Given the description of an element on the screen output the (x, y) to click on. 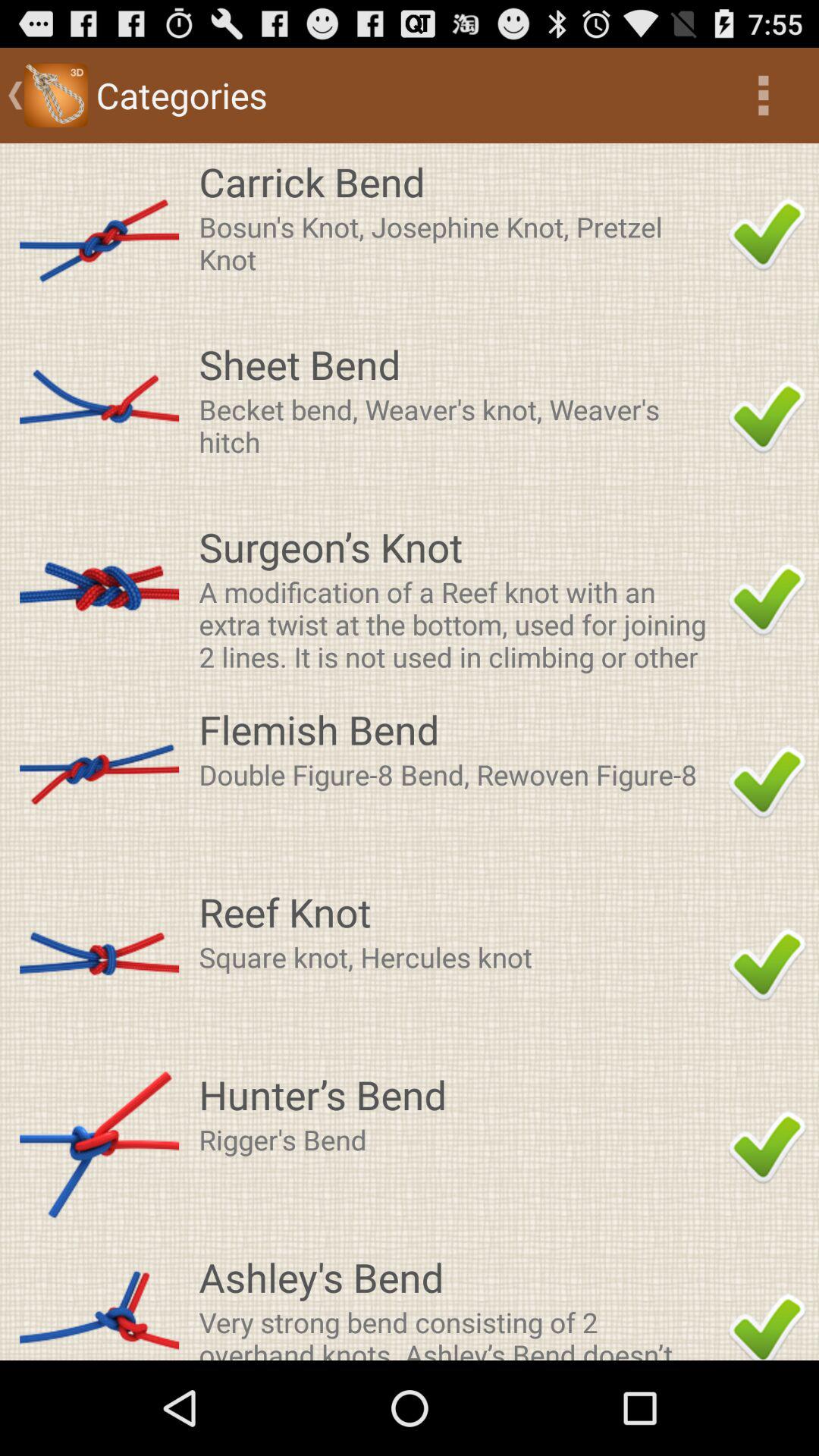
scroll until carrick bend icon (459, 181)
